Given the description of an element on the screen output the (x, y) to click on. 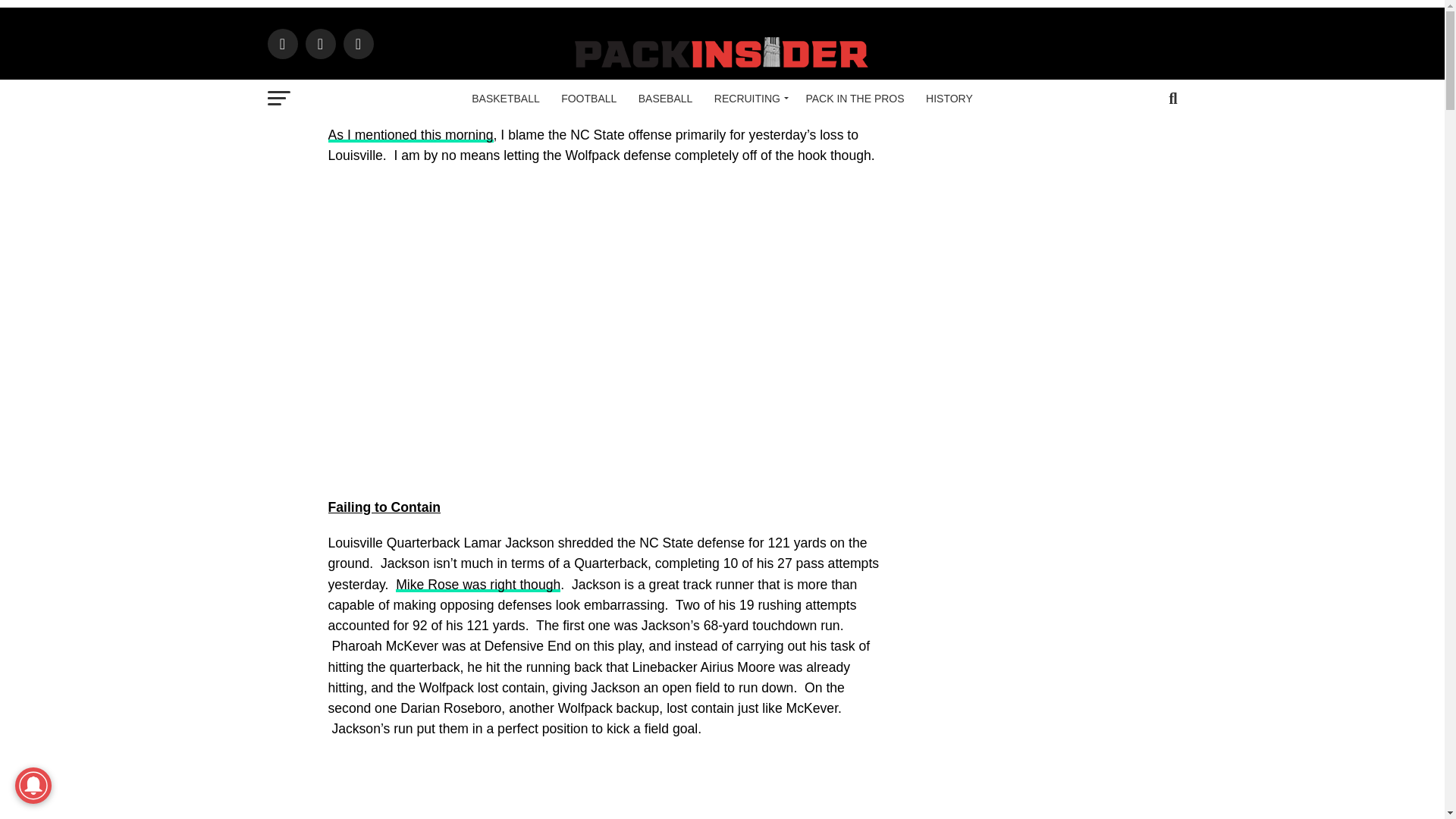
FOOTBALL (588, 98)
RECRUITING (748, 98)
BASKETBALL (505, 98)
BASEBALL (664, 98)
